Given the description of an element on the screen output the (x, y) to click on. 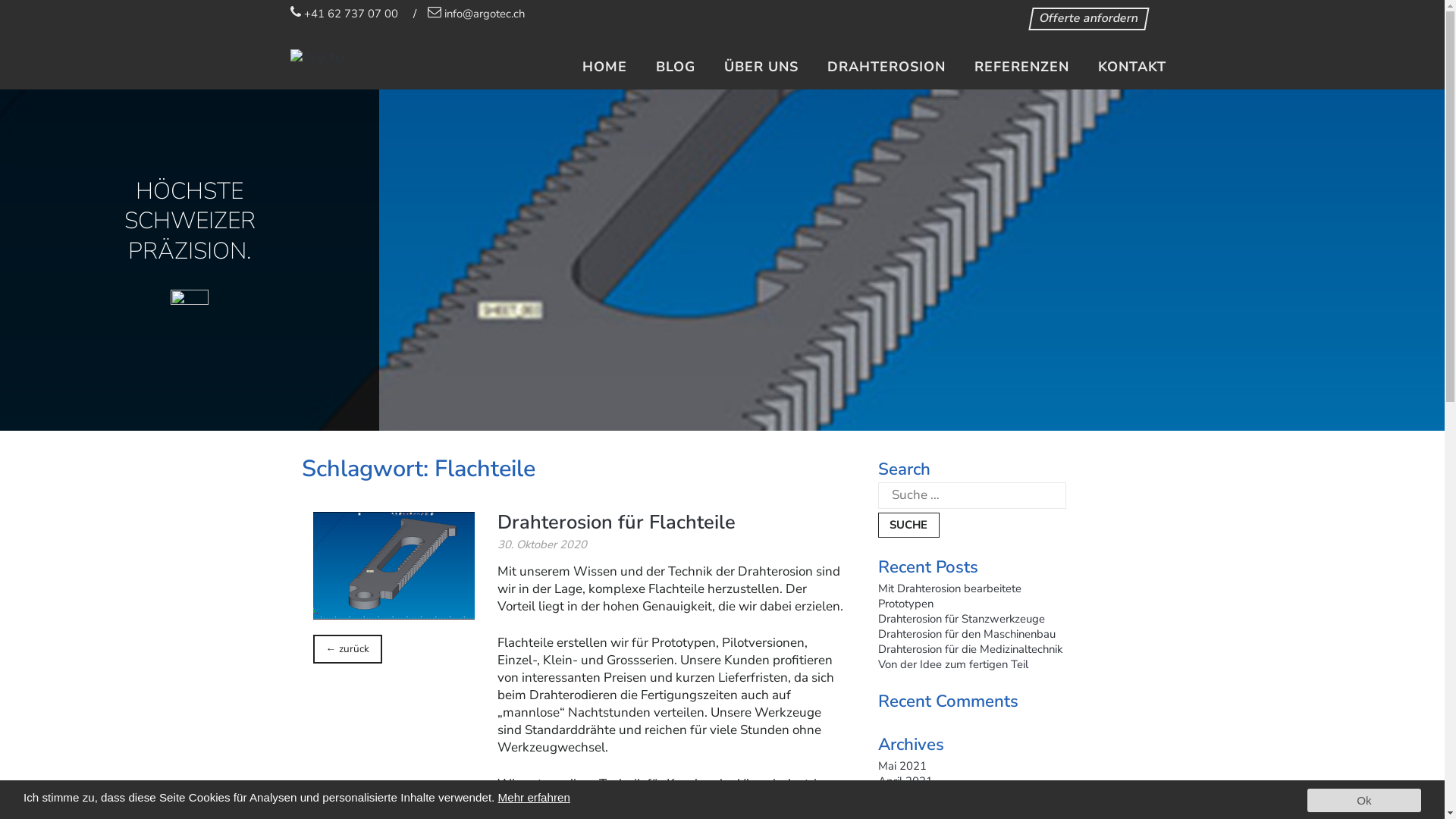
BLOG Element type: text (674, 66)
info@argotec.ch Element type: text (475, 13)
Offerte anfordern Element type: text (1086, 18)
+41 62 737 07 00 Element type: text (343, 13)
Von der Idee zum fertigen Teil Element type: text (953, 663)
April 2021 Element type: text (905, 780)
Ok Element type: text (1364, 800)
Mit Drahterosion bearbeitete Prototypen Element type: text (949, 595)
DRAHTEROSION Element type: text (885, 66)
Suche Element type: text (909, 524)
Mai 2021 Element type: text (902, 765)
KONTAKT Element type: text (1132, 66)
Mehr erfahren Element type: text (534, 796)
HOME Element type: text (604, 66)
REFERENZEN Element type: text (1020, 66)
